Given the description of an element on the screen output the (x, y) to click on. 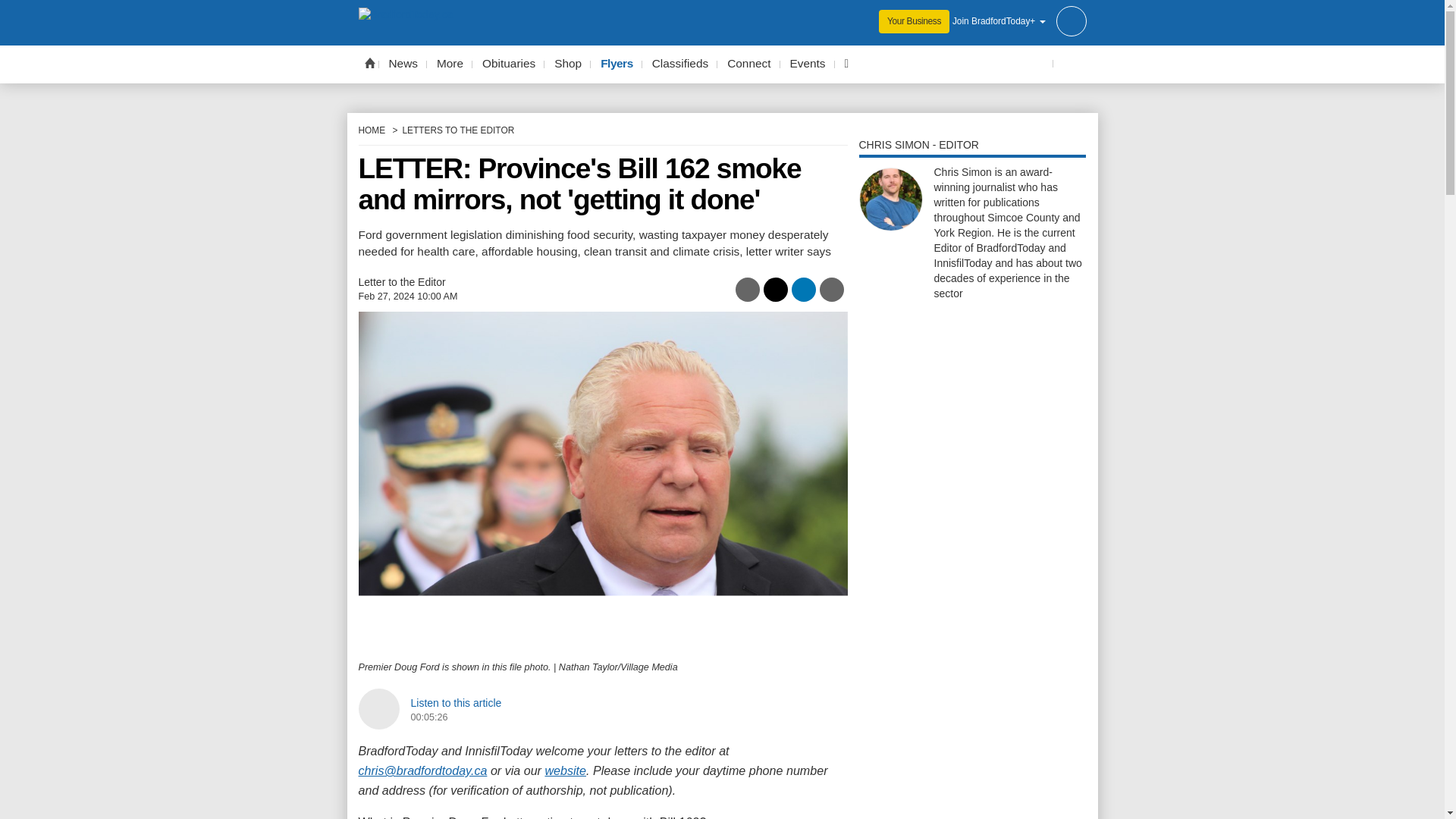
Your Business (914, 21)
News (403, 64)
Home (368, 62)
